Given the description of an element on the screen output the (x, y) to click on. 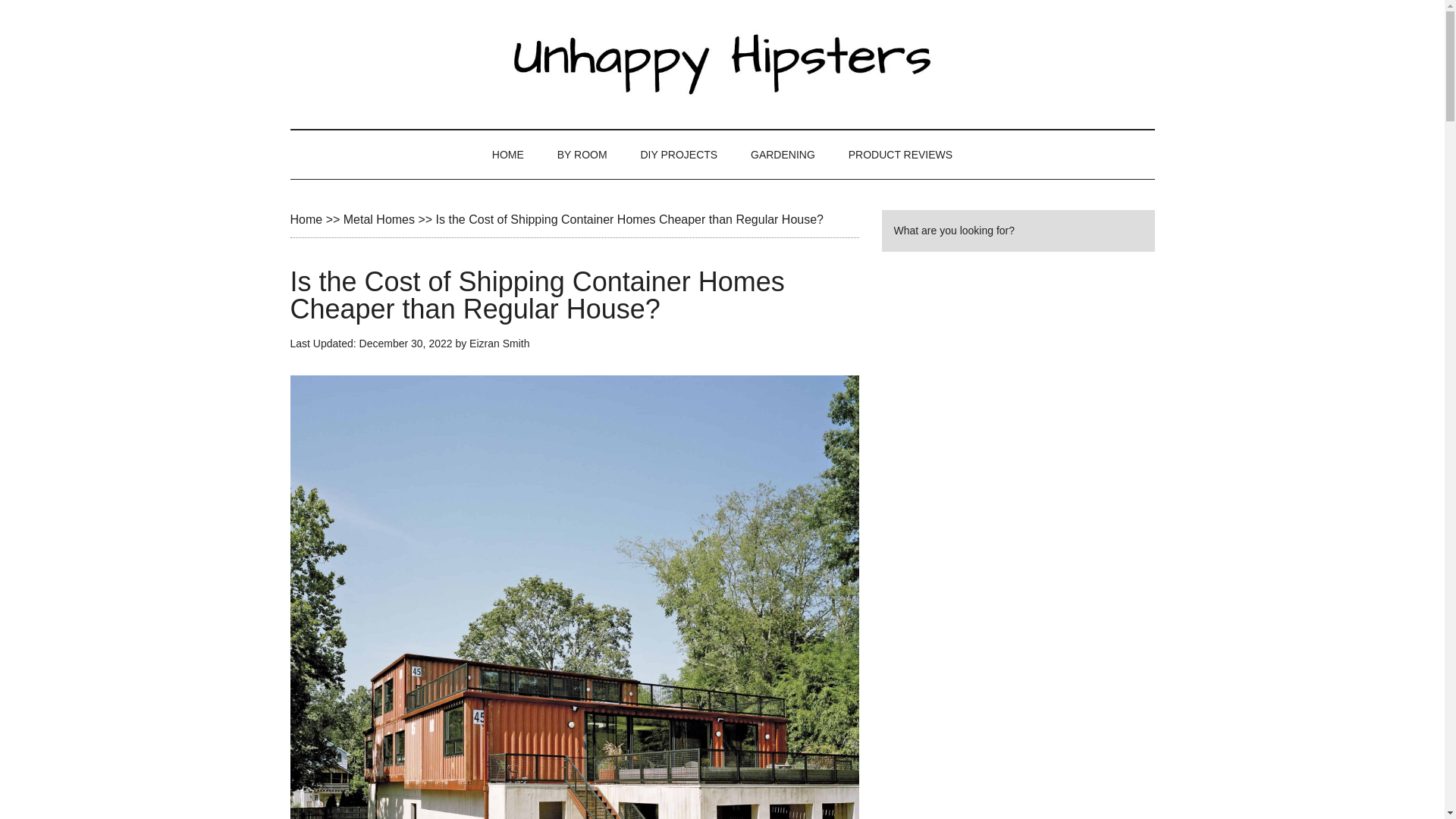
Home (305, 219)
Unhappy Hipsters (721, 64)
PRODUCT REVIEWS (900, 154)
HOME (507, 154)
DIY PROJECTS (678, 154)
BY ROOM (582, 154)
GARDENING (782, 154)
Metal Homes (378, 219)
